Given the description of an element on the screen output the (x, y) to click on. 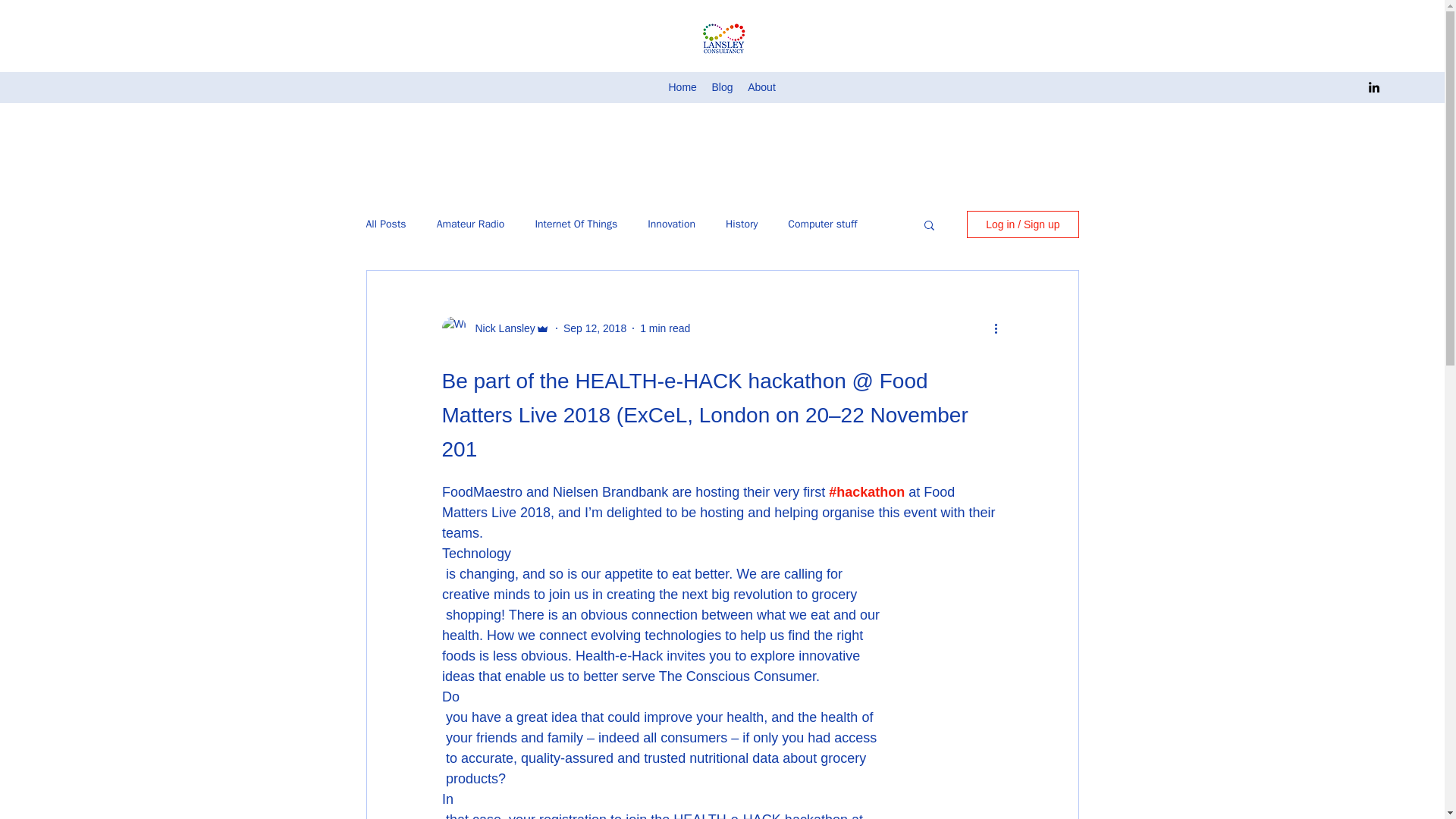
1 min read (665, 327)
Sep 12, 2018 (594, 327)
About (761, 87)
Home (682, 87)
All Posts (385, 223)
Amateur Radio (470, 223)
Computer stuff (822, 223)
Blog (721, 87)
History (741, 223)
Internet Of Things (575, 223)
